Given the description of an element on the screen output the (x, y) to click on. 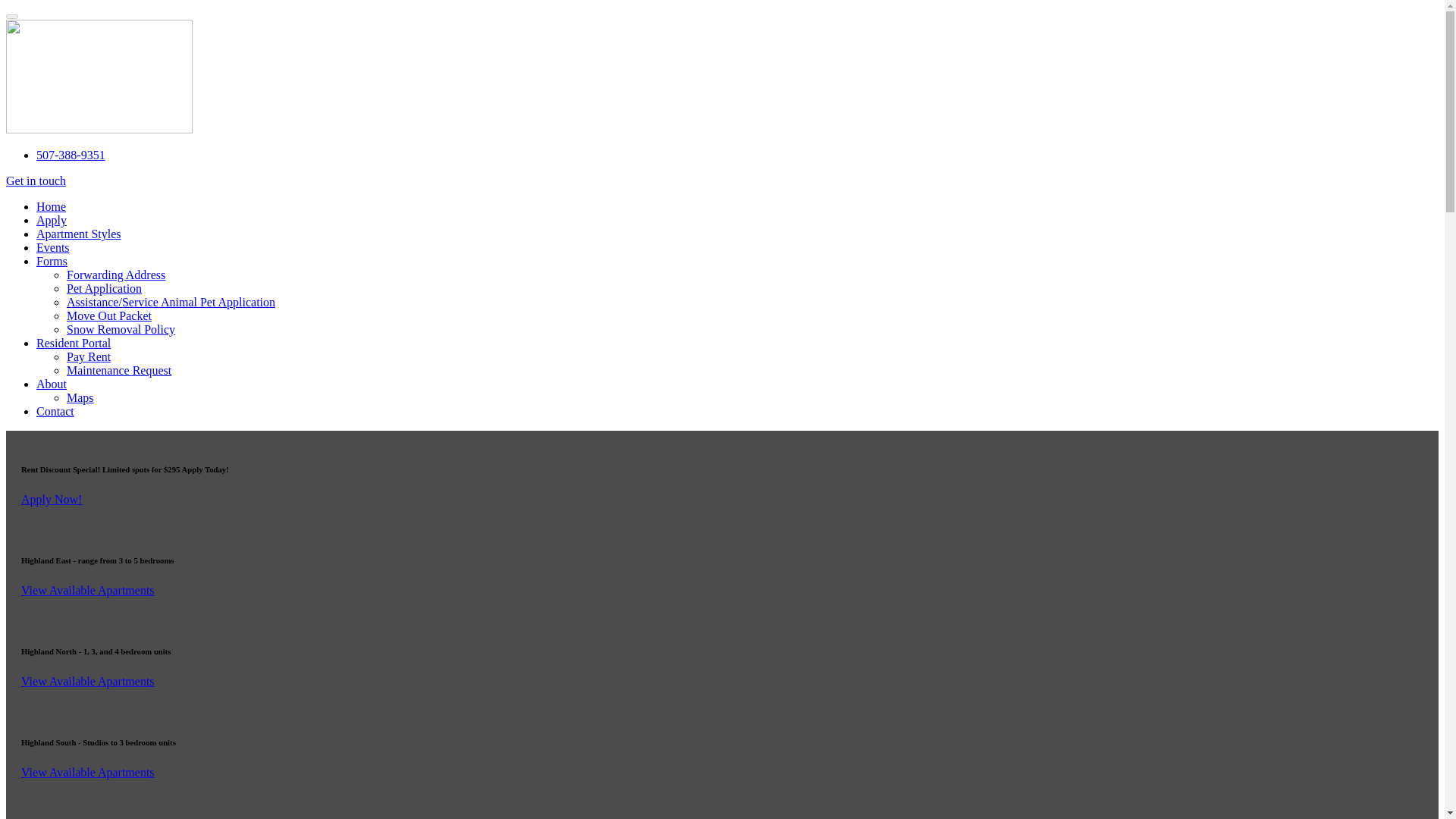
Forwarding Address (115, 274)
Pet Application (103, 287)
Maintenance Request (118, 369)
View Available Apartments (87, 590)
Home (50, 205)
Contact (55, 410)
View Available Apartments (87, 680)
507-388-9351 (70, 154)
Snow Removal Policy (120, 328)
Get in touch (35, 180)
